Given the description of an element on the screen output the (x, y) to click on. 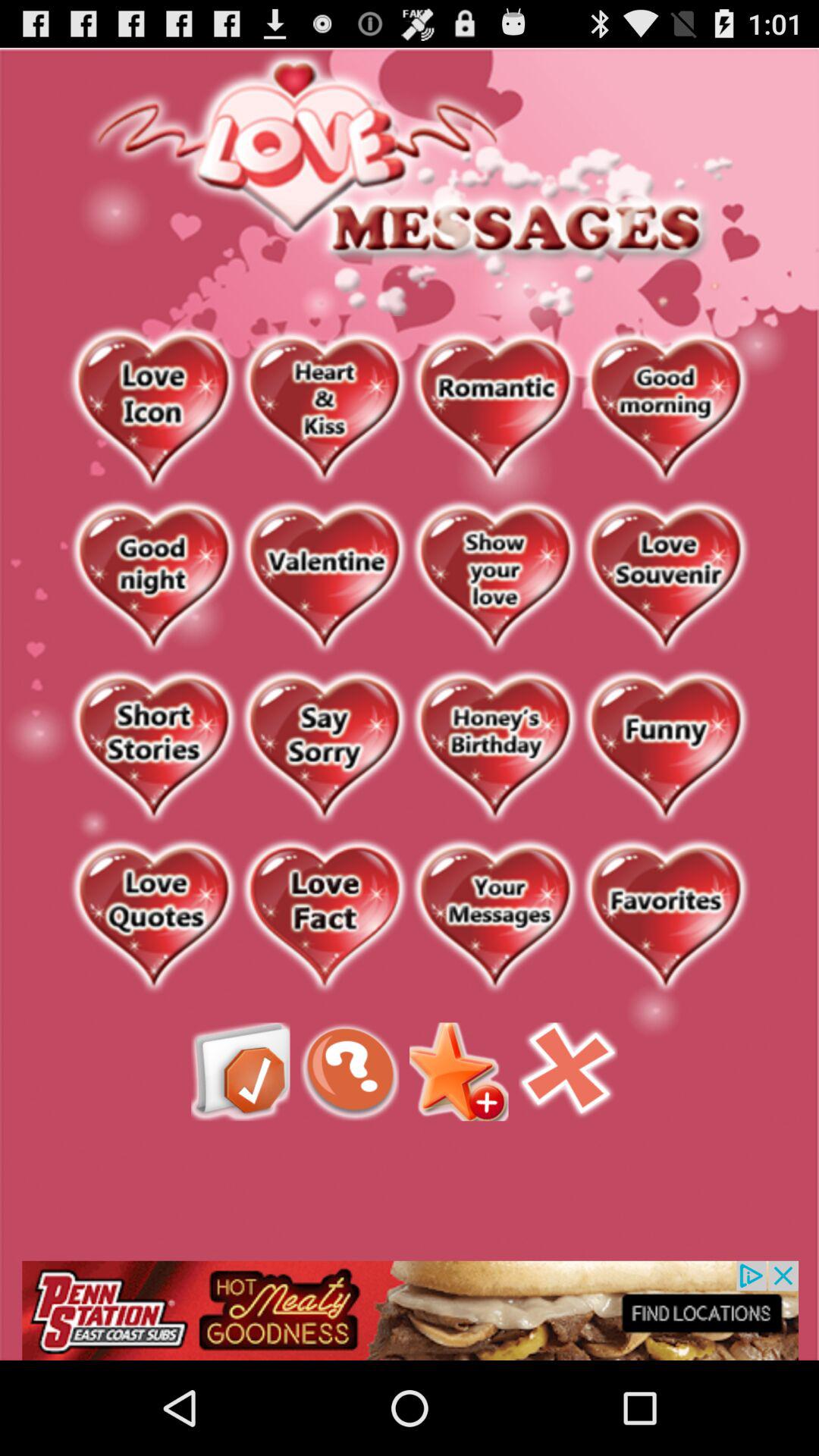
love fact (323, 917)
